Given the description of an element on the screen output the (x, y) to click on. 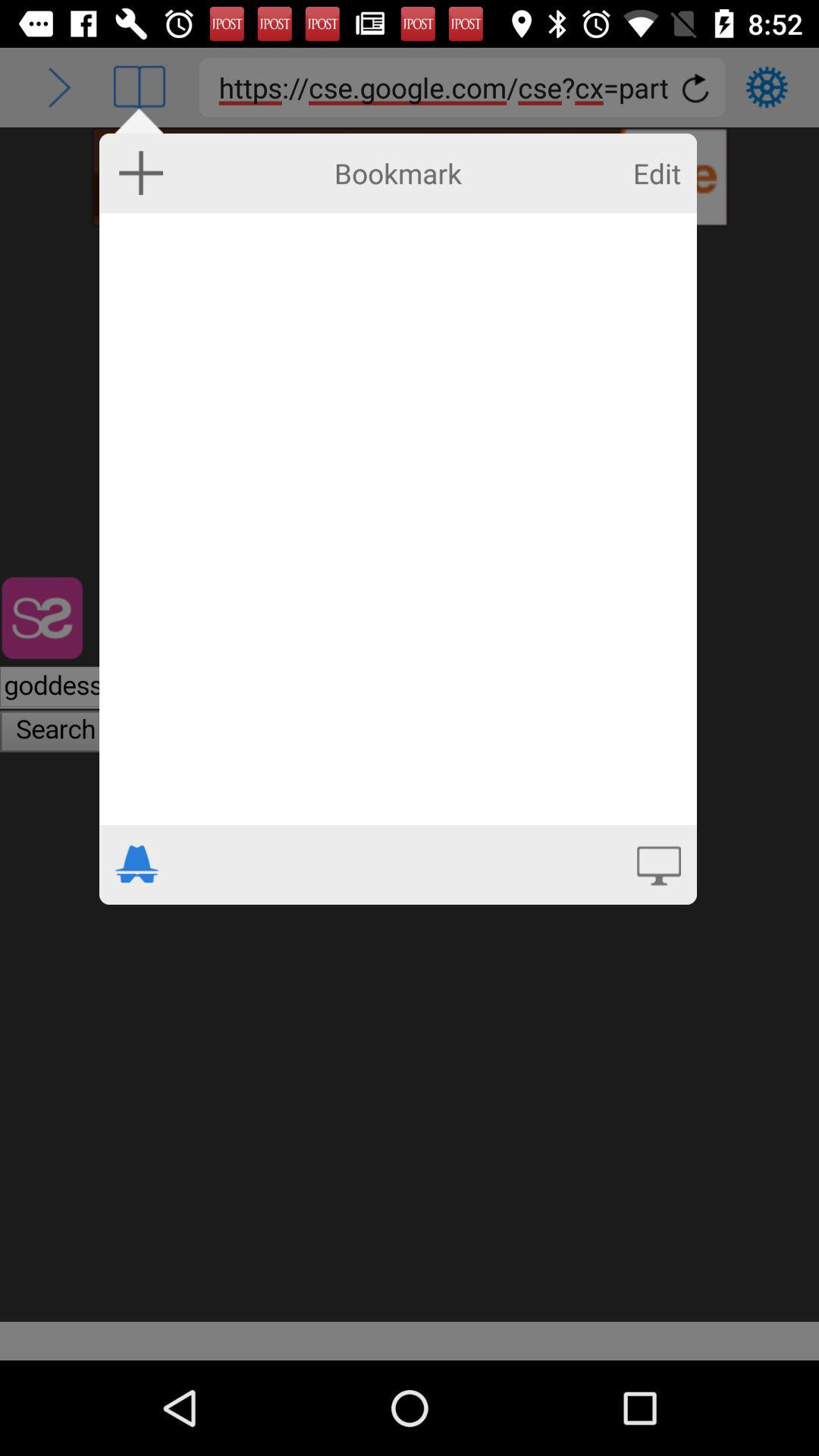
open the item at the center (397, 518)
